Given the description of an element on the screen output the (x, y) to click on. 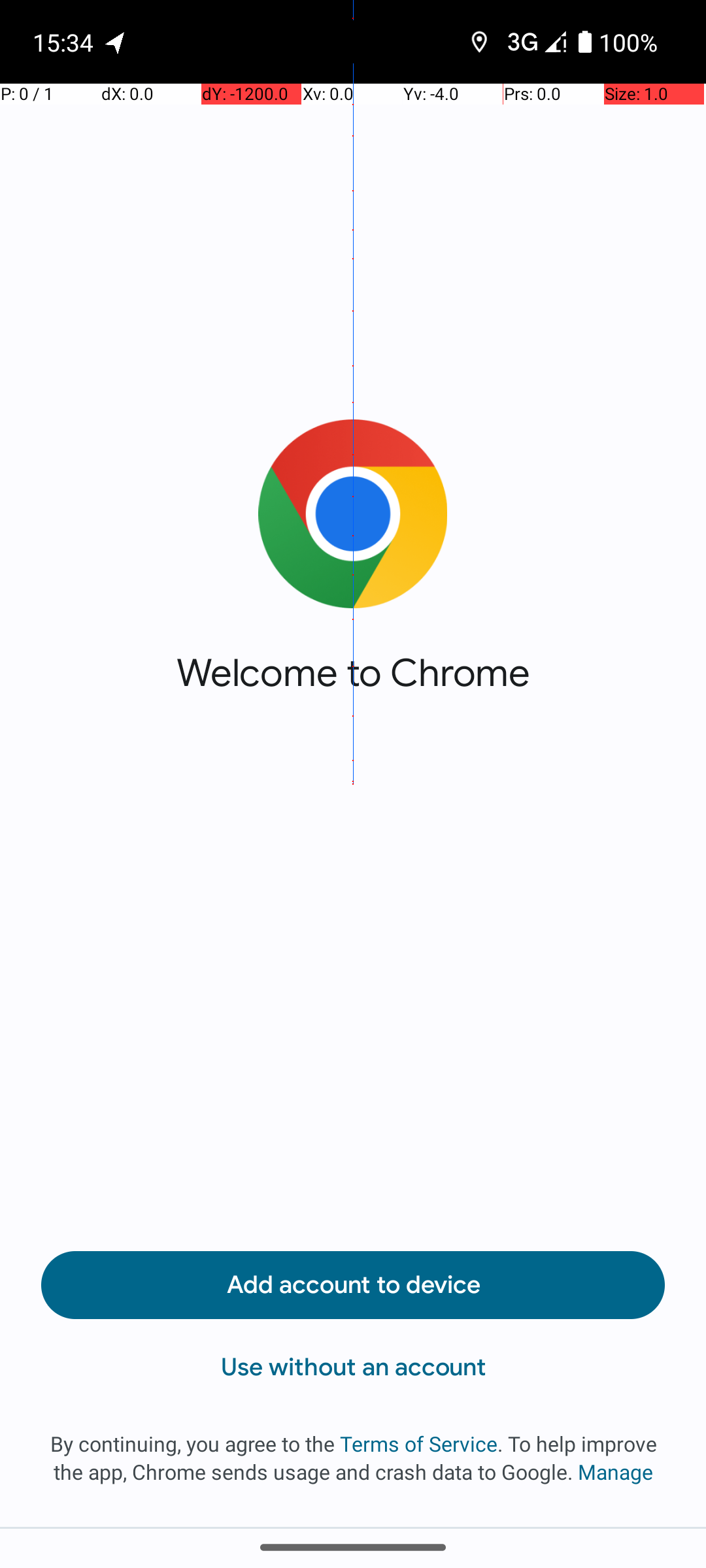
Welcome to Chrome Element type: android.widget.TextView (353, 673)
OpenTracks notification: Distance: 0.00 ft Element type: android.widget.ImageView (115, 41)
Location requests active Element type: android.widget.ImageView (479, 41)
